Given the description of an element on the screen output the (x, y) to click on. 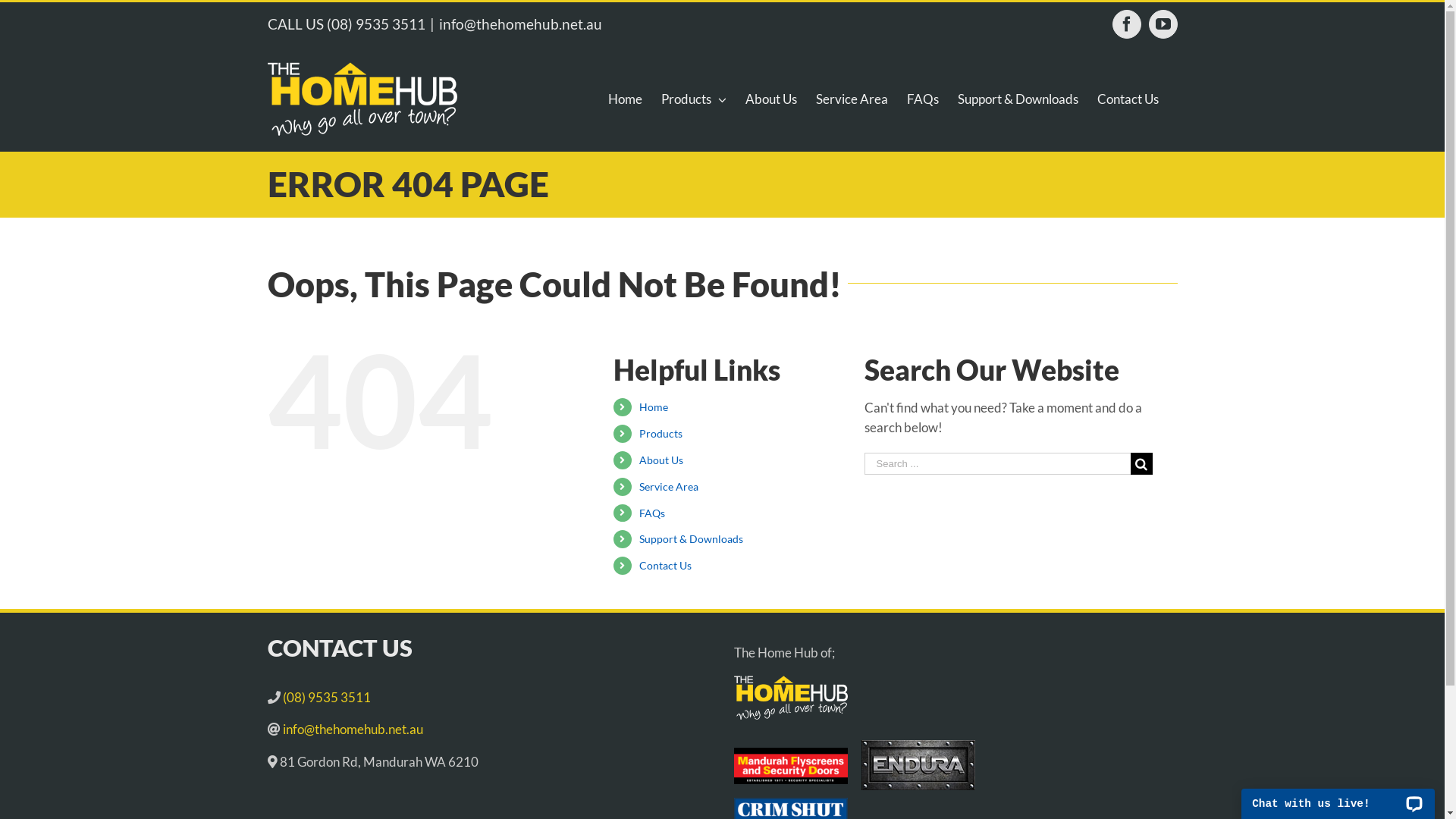
Contact Us Element type: text (1126, 98)
Products Element type: text (660, 432)
Facebook Element type: text (1125, 23)
FAQs Element type: text (652, 512)
info@thehomehub.net.au Element type: text (519, 23)
YouTube Element type: text (1162, 23)
Home Element type: text (653, 406)
Support & Downloads Element type: text (1017, 98)
Contact Us Element type: text (665, 564)
About Us Element type: text (770, 98)
About Us Element type: text (661, 459)
Products Element type: text (693, 98)
Home Element type: text (625, 98)
Service Area Element type: text (668, 486)
Service Area Element type: text (851, 98)
(08) 9535 3511  Element type: text (327, 697)
FAQs Element type: text (922, 98)
(08) 9535 3511 Element type: text (375, 23)
info@thehomehub.net.au Element type: text (352, 729)
Support & Downloads Element type: text (691, 538)
